Given the description of an element on the screen output the (x, y) to click on. 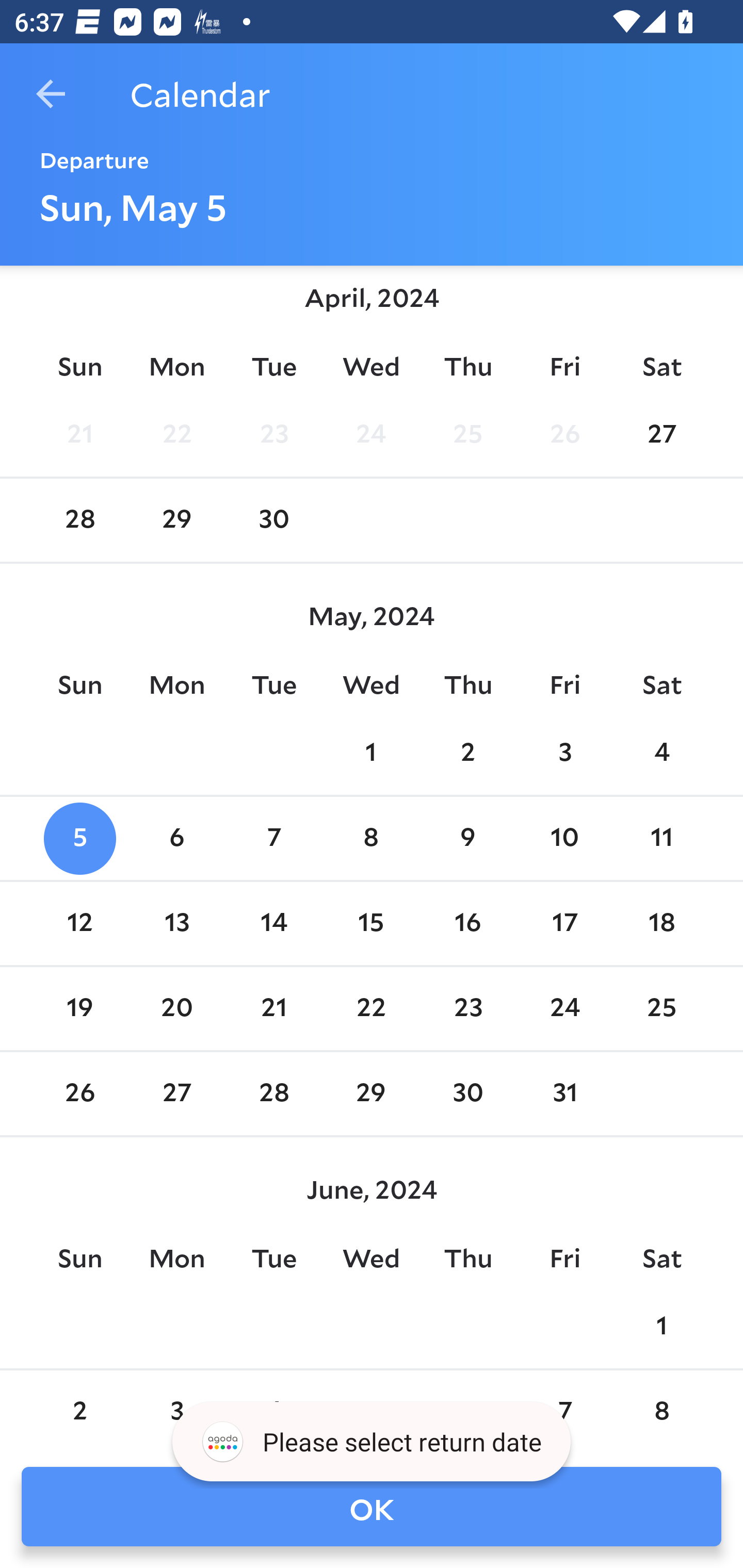
Navigate up (50, 93)
21 (79, 435)
22 (177, 435)
23 (273, 435)
24 (371, 435)
25 (467, 435)
26 (565, 435)
27 (661, 435)
28 (79, 520)
29 (177, 520)
30 (273, 520)
1 (371, 754)
2 (467, 754)
3 (565, 754)
4 (661, 754)
5 (79, 838)
6 (177, 838)
7 (273, 838)
8 (371, 838)
9 (467, 838)
10 (565, 838)
11 (661, 838)
12 (79, 923)
13 (177, 923)
14 (273, 923)
15 (371, 923)
16 (467, 923)
17 (565, 923)
18 (661, 923)
19 (79, 1008)
20 (177, 1008)
21 (273, 1008)
22 (371, 1008)
23 (467, 1008)
24 (565, 1008)
25 (661, 1008)
26 (79, 1094)
27 (177, 1094)
28 (273, 1094)
29 (371, 1094)
30 (467, 1094)
31 (565, 1094)
1 (661, 1326)
2 (79, 1410)
8 (661, 1410)
OK (371, 1506)
